Given the description of an element on the screen output the (x, y) to click on. 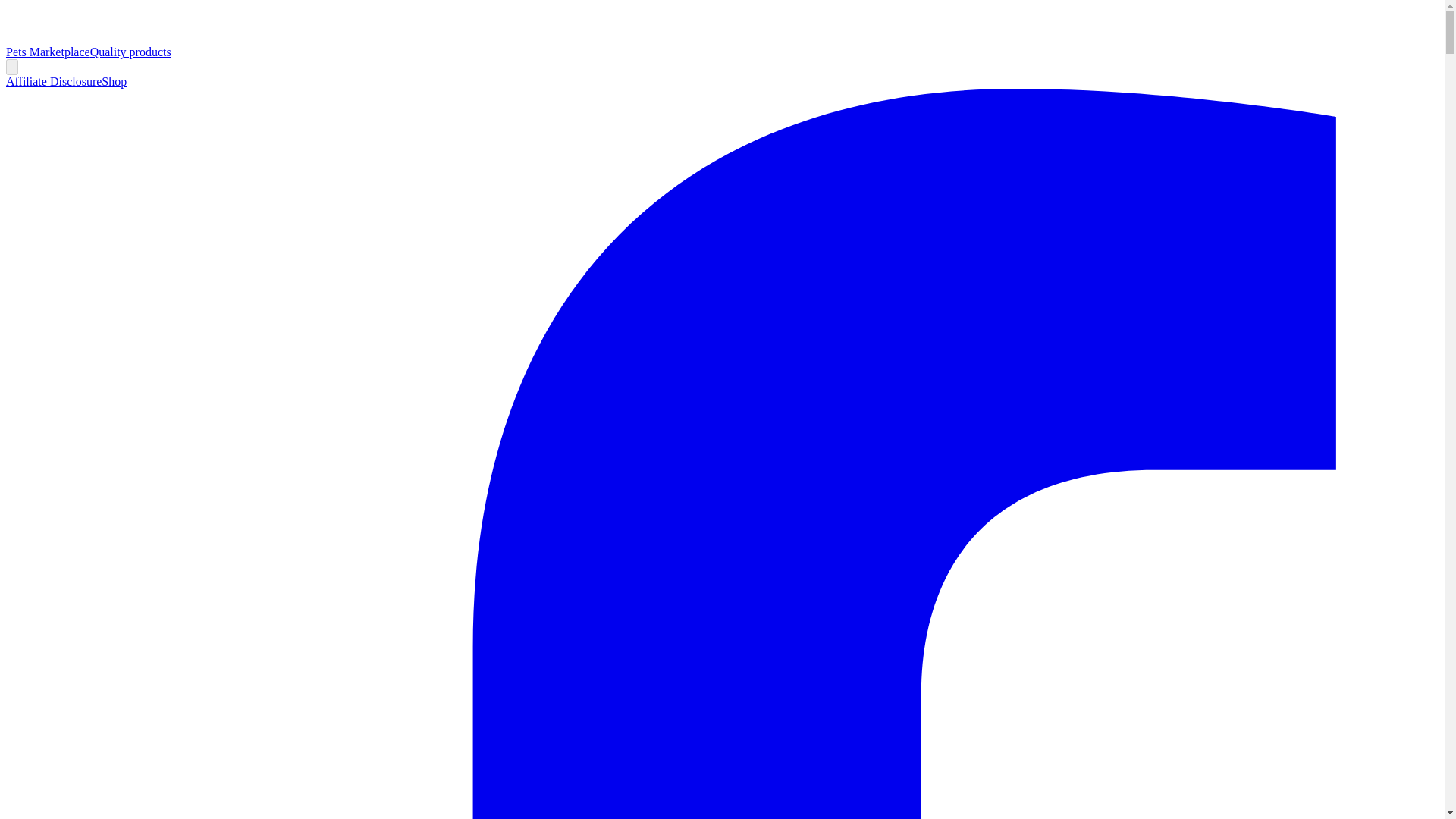
Shop (113, 81)
Affiliate Disclosure (53, 81)
